Given the description of an element on the screen output the (x, y) to click on. 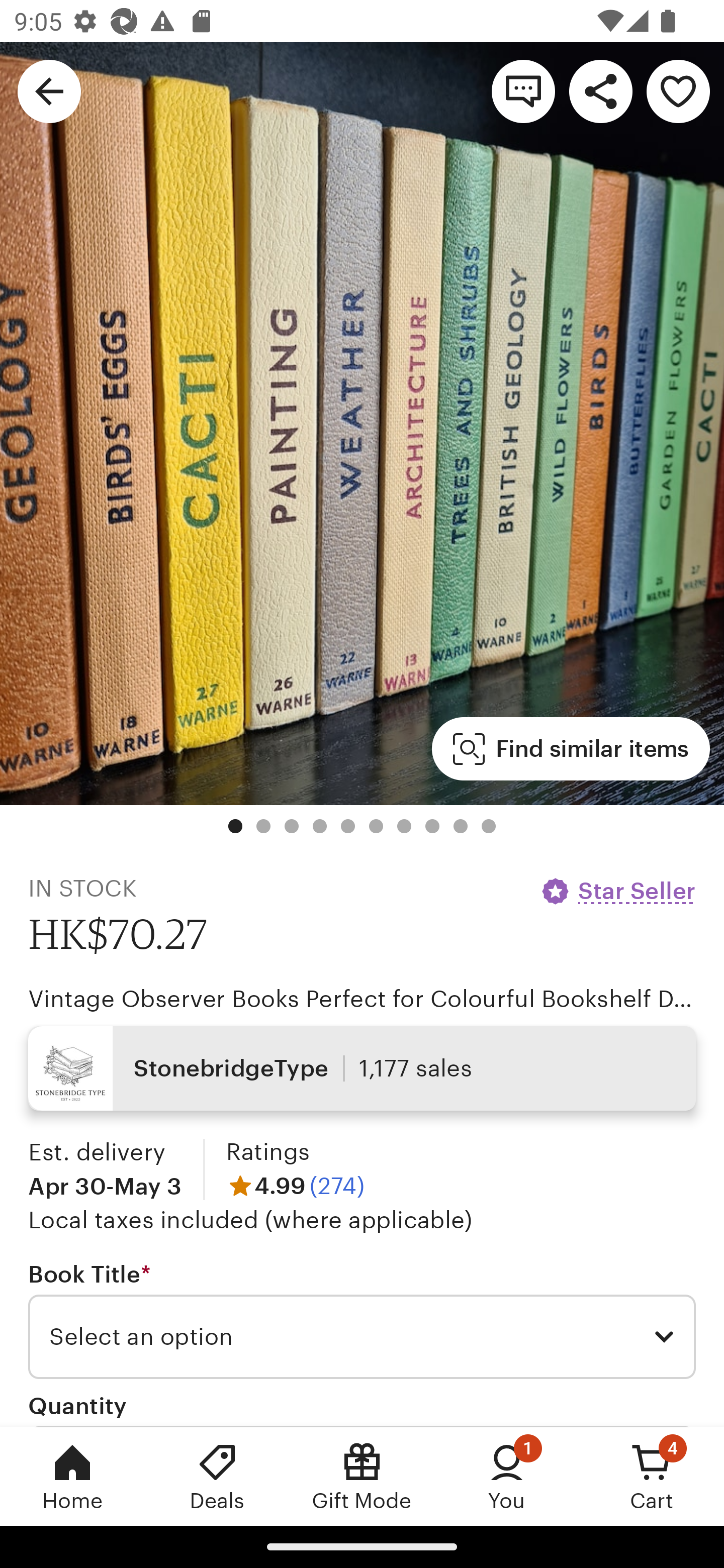
Navigate up (49, 90)
Contact shop (523, 90)
Share (600, 90)
Find similar items (571, 748)
Star Seller (617, 890)
StonebridgeType 1,177 sales (361, 1067)
Ratings (267, 1151)
4.99 (274) (294, 1185)
Book Title * Required Select an option (361, 1319)
Select an option (361, 1336)
Quantity (77, 1405)
Deals (216, 1475)
Gift Mode (361, 1475)
You, 1 new notification You (506, 1475)
Cart, 4 new notifications Cart (651, 1475)
